Given the description of an element on the screen output the (x, y) to click on. 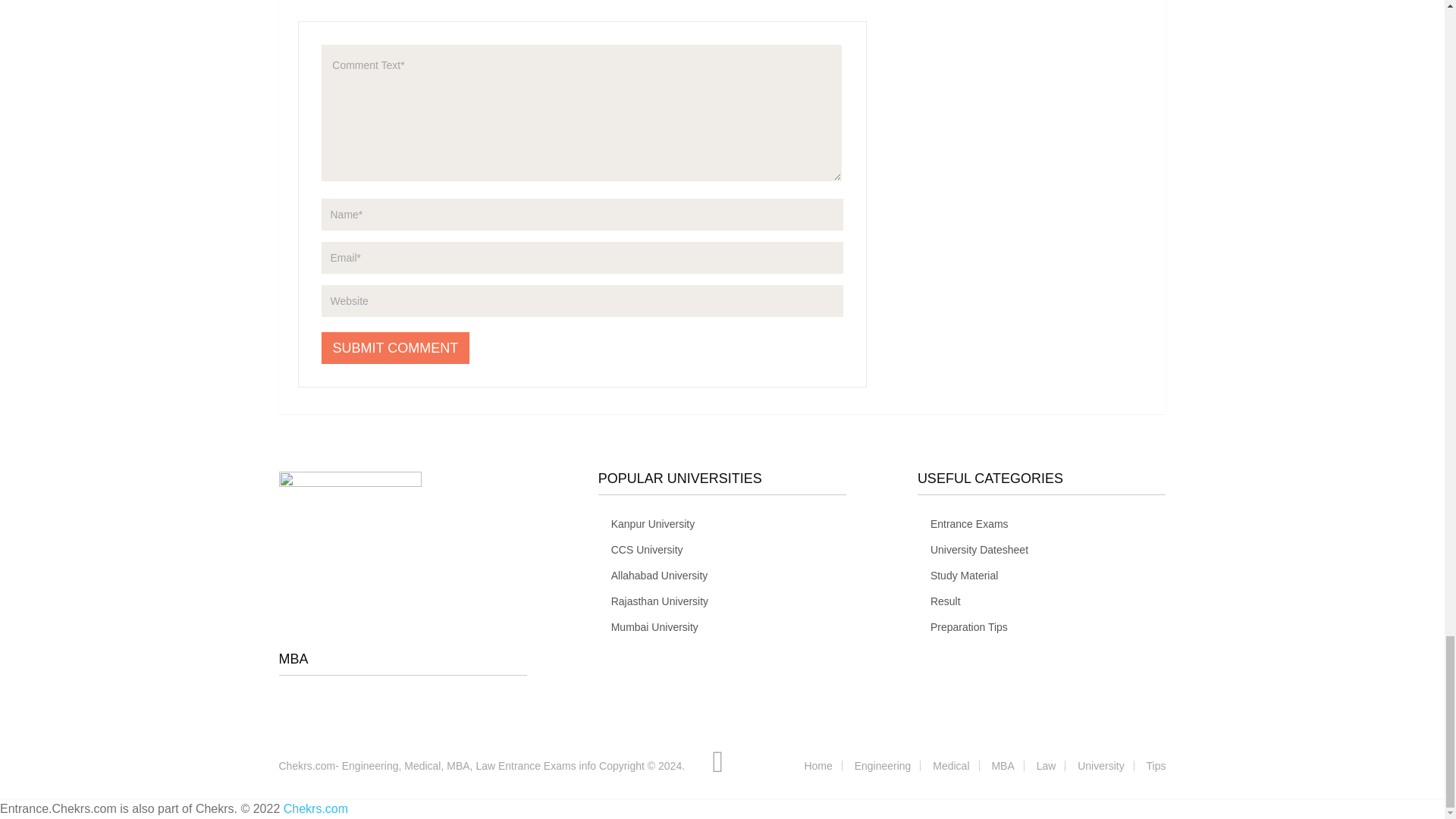
Submit Comment (395, 347)
 All India State Entrance Exam Updates (437, 766)
